Given the description of an element on the screen output the (x, y) to click on. 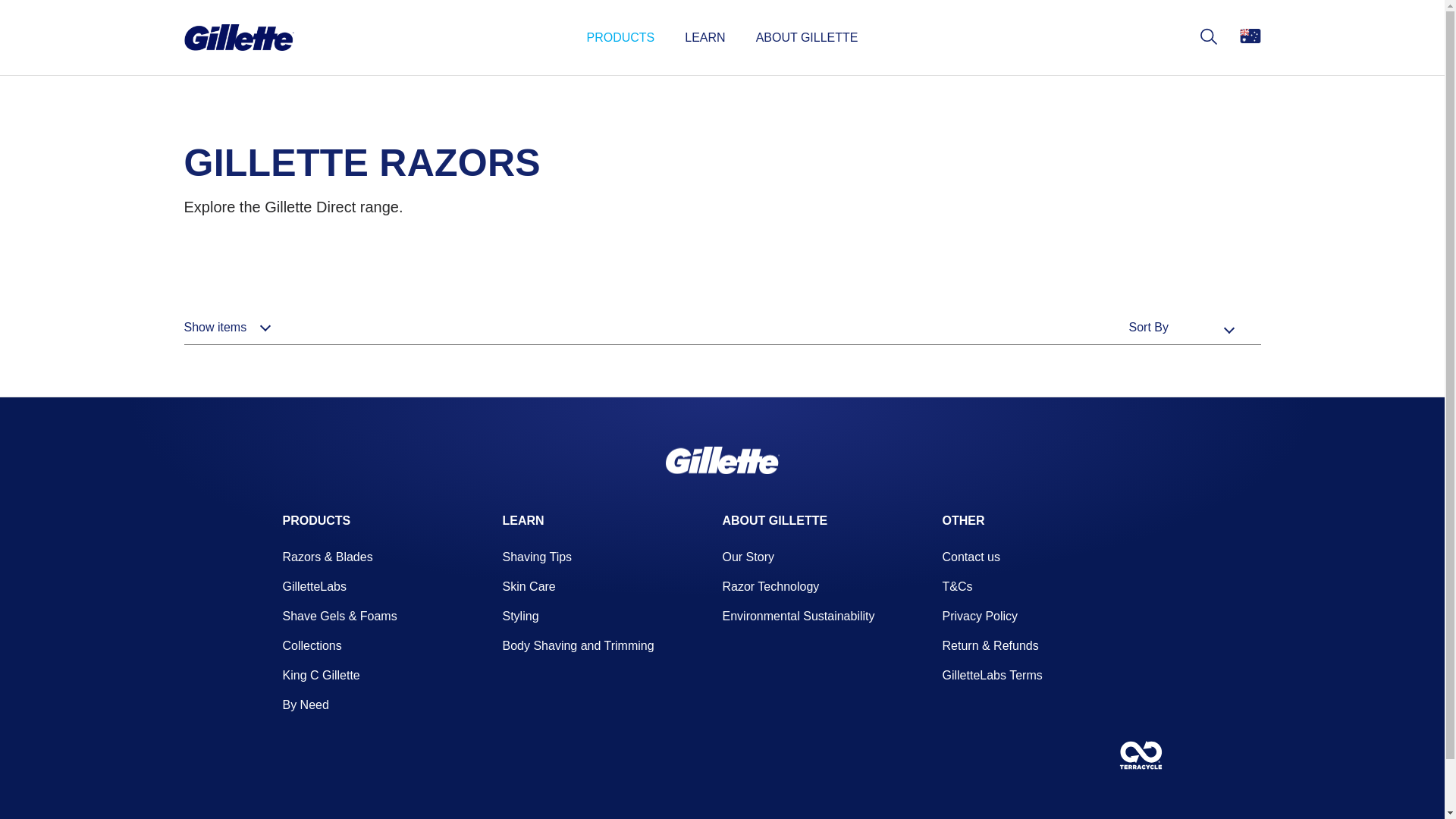
GilletteLabs Element type: text (314, 586)
Shave Gels & Foams Element type: text (339, 615)
Collections Element type: text (311, 645)
By Need Element type: text (305, 704)
Return & Refunds Element type: text (989, 645)
PRODUCTS Element type: text (620, 37)
PRODUCTS Element type: text (316, 520)
Skin Care Element type: text (528, 586)
OTHER Element type: text (962, 520)
LEARN Element type: text (522, 520)
T&Cs Element type: text (956, 586)
King C Gillette Element type: text (320, 674)
Sort By Element type: text (1147, 326)
Shaving Tips Element type: text (536, 556)
Styling Element type: text (520, 615)
ABOUT GILLETTE Element type: text (774, 520)
Our Story Element type: text (747, 556)
Gillette Direct Element type: hover (238, 37)
Body Shaving and Trimming Element type: text (577, 645)
Environmental Sustainability Element type: text (797, 615)
Razor Technology Element type: text (770, 586)
Contact us Element type: text (970, 556)
Privacy Policy Element type: text (979, 615)
Gillette Direct Element type: text (722, 459)
LEARN Element type: text (704, 37)
ABOUT GILLETTE Element type: text (807, 37)
Razors & Blades Element type: text (327, 556)
GilletteLabs Terms Element type: text (991, 674)
